Given the description of an element on the screen output the (x, y) to click on. 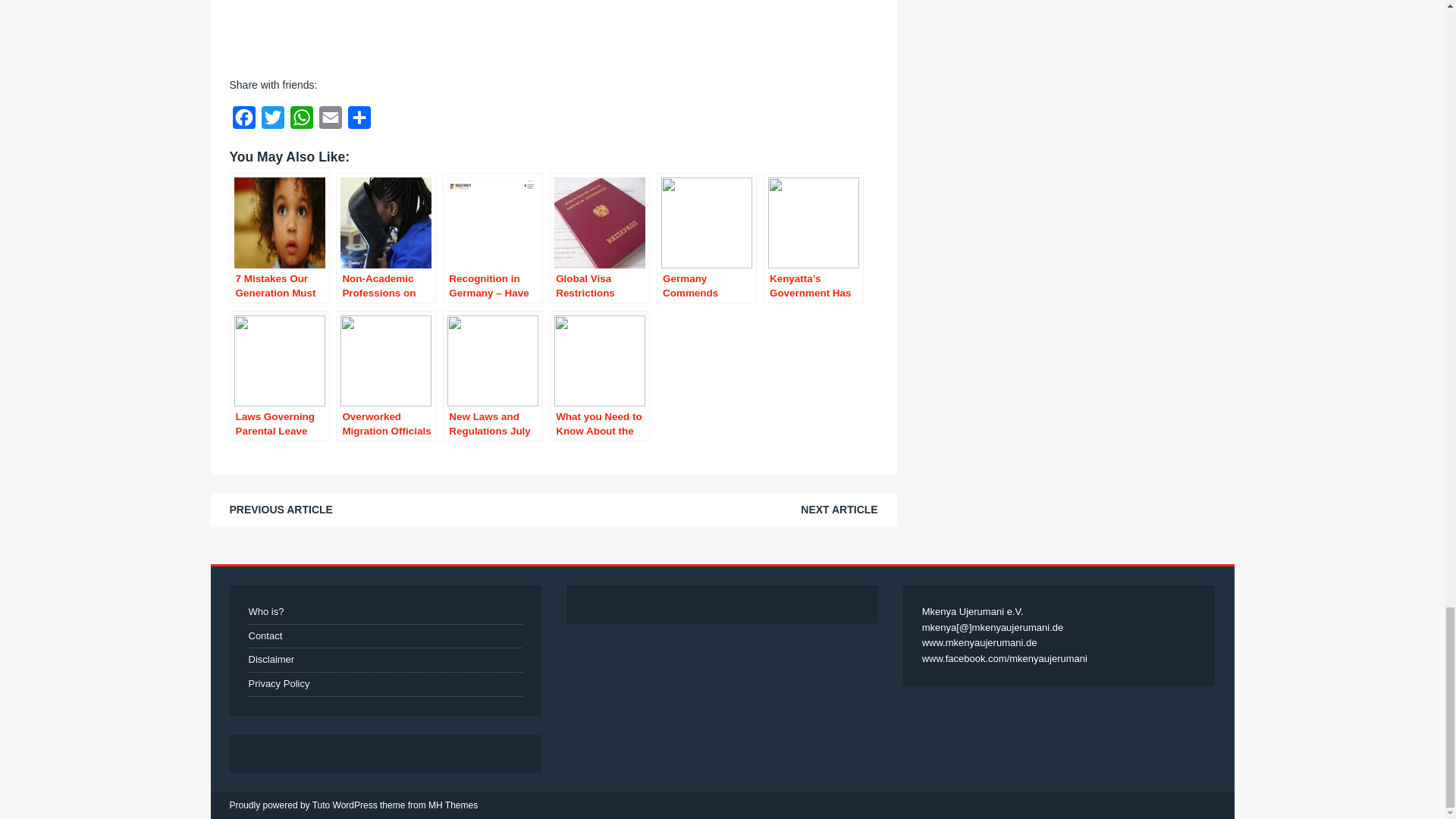
Facebook (242, 121)
Email (329, 121)
WhatsApp (300, 121)
Twitter (271, 121)
